Given the description of an element on the screen output the (x, y) to click on. 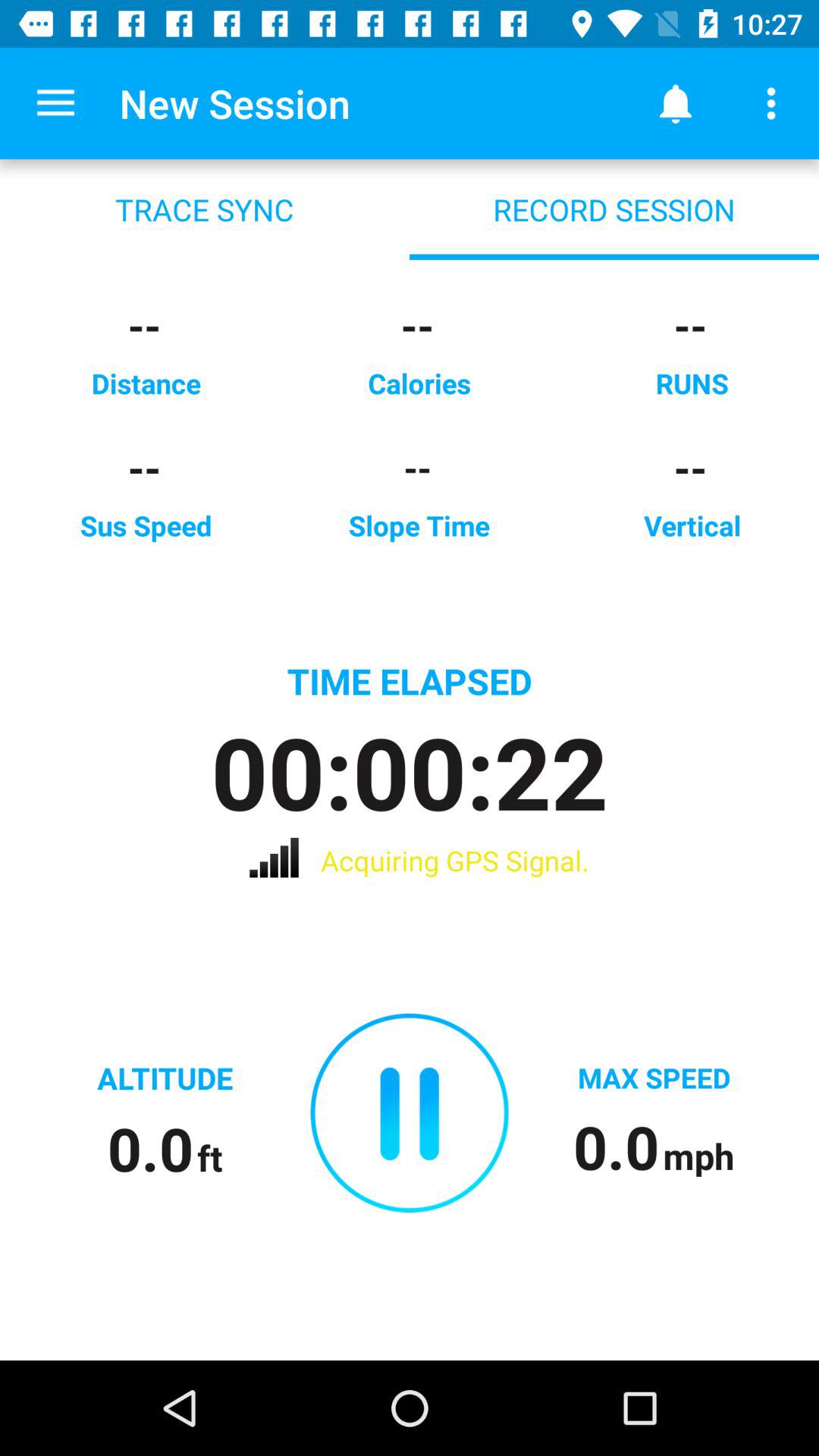
open the icon below acquiring gps signal. icon (409, 1112)
